Given the description of an element on the screen output the (x, y) to click on. 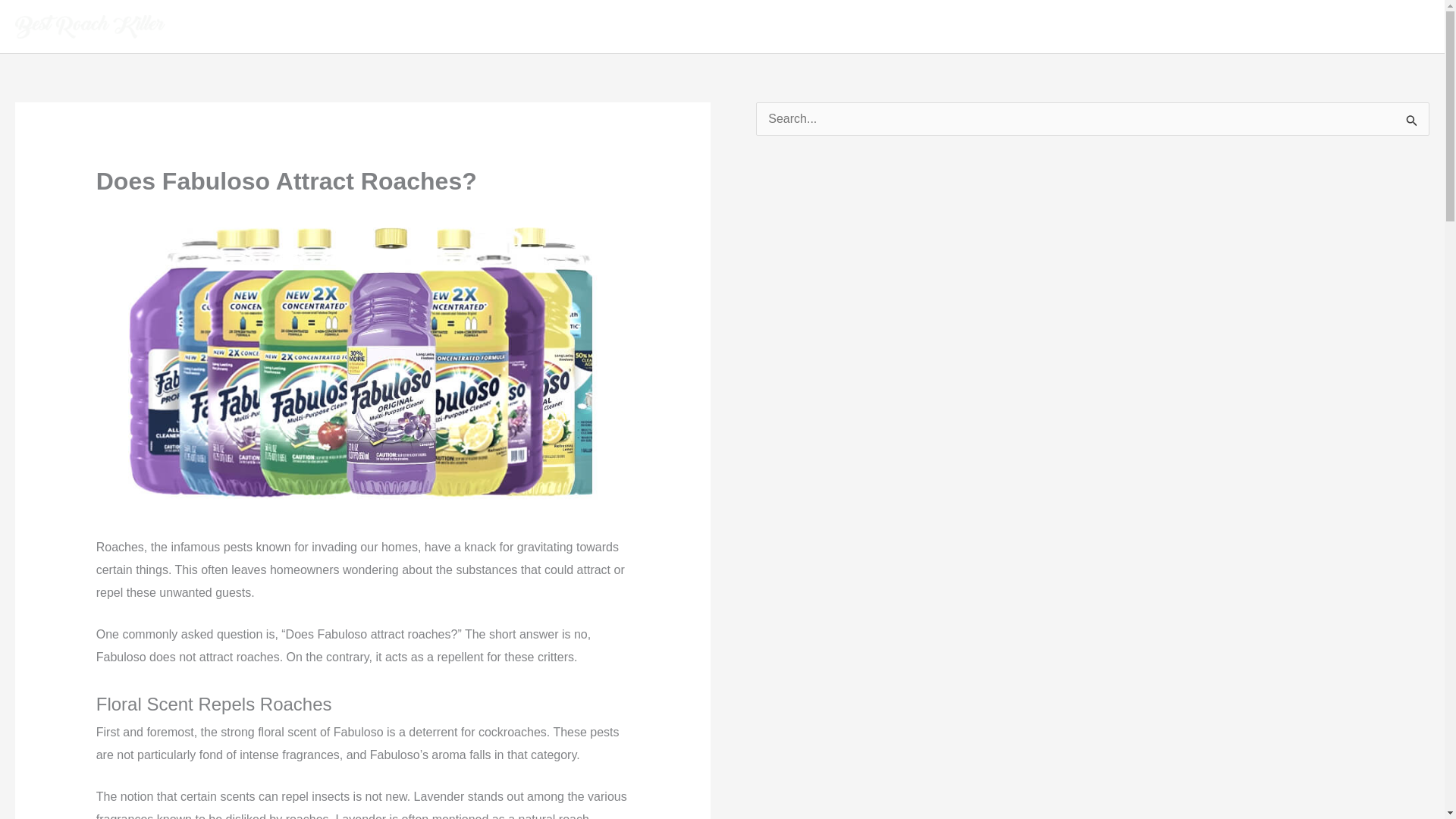
Roach Blog (1385, 26)
Home Remedies (1284, 26)
Pet Safe (1192, 26)
Product Review (1102, 26)
